Given the description of an element on the screen output the (x, y) to click on. 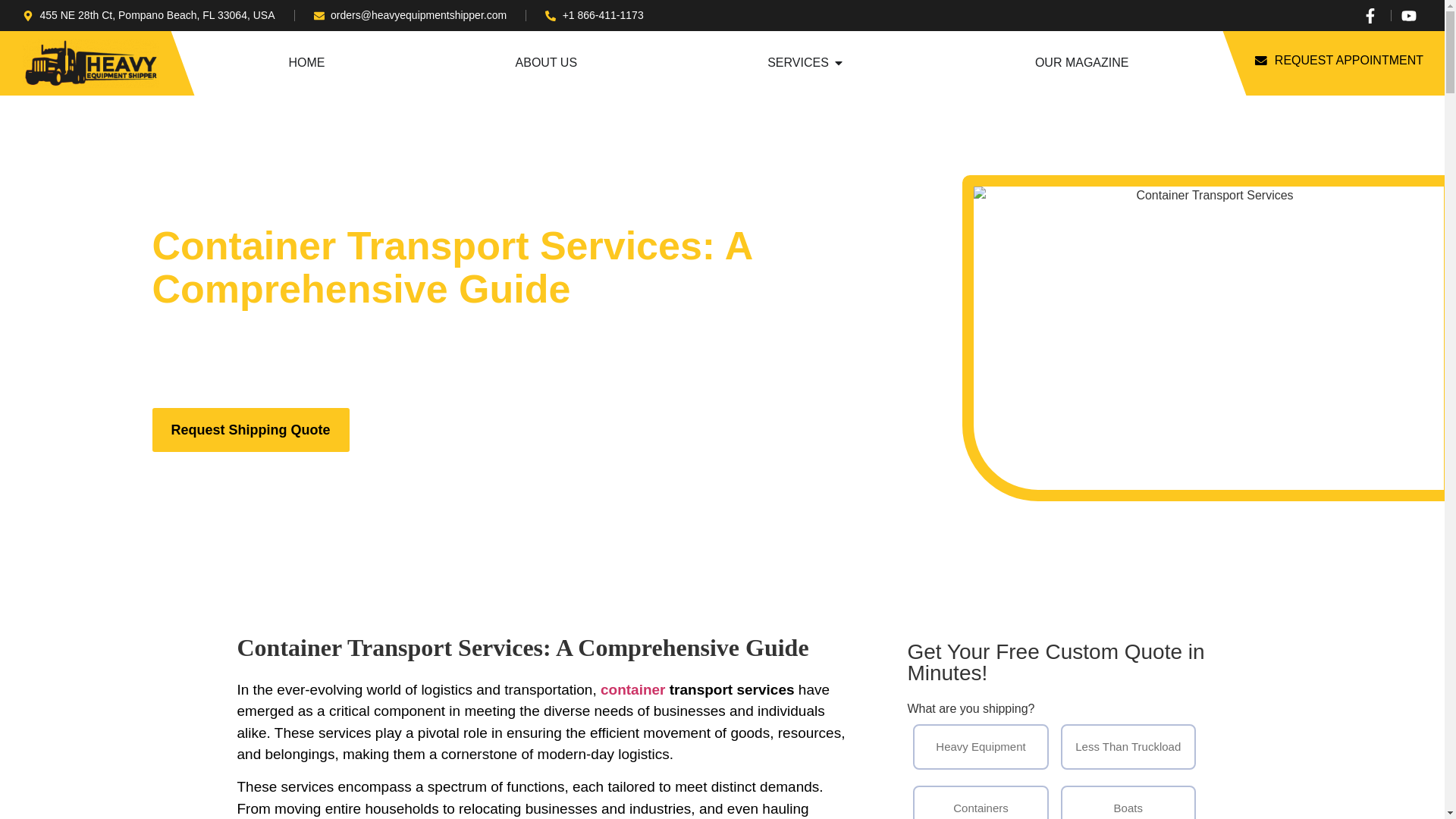
REQUEST APPOINTMENT (1339, 61)
container (632, 689)
OUR MAGAZINE (1082, 63)
HOME (306, 63)
Request Shipping Quote (250, 429)
